Given the description of an element on the screen output the (x, y) to click on. 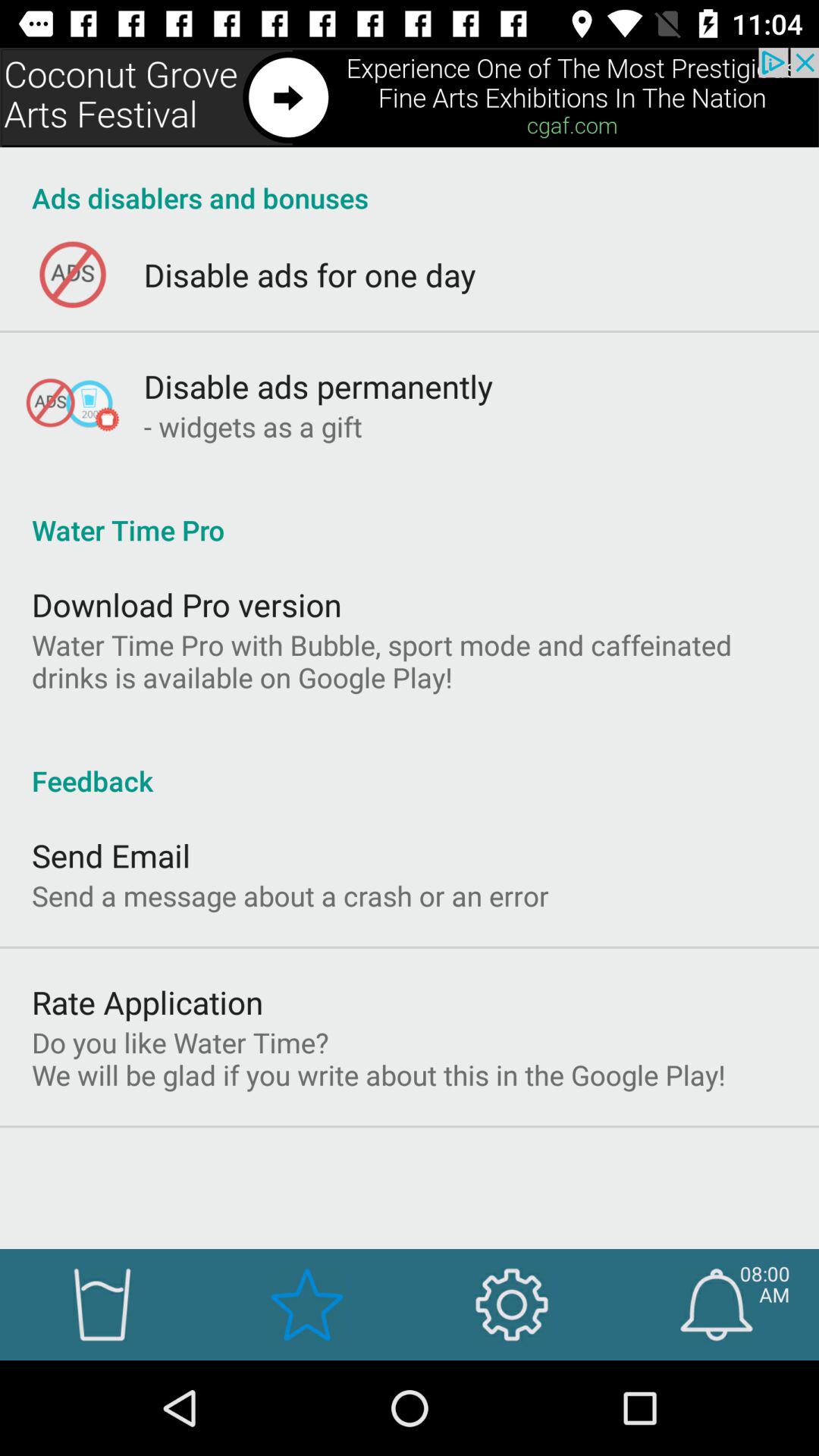
select share option (409, 97)
